Given the description of an element on the screen output the (x, y) to click on. 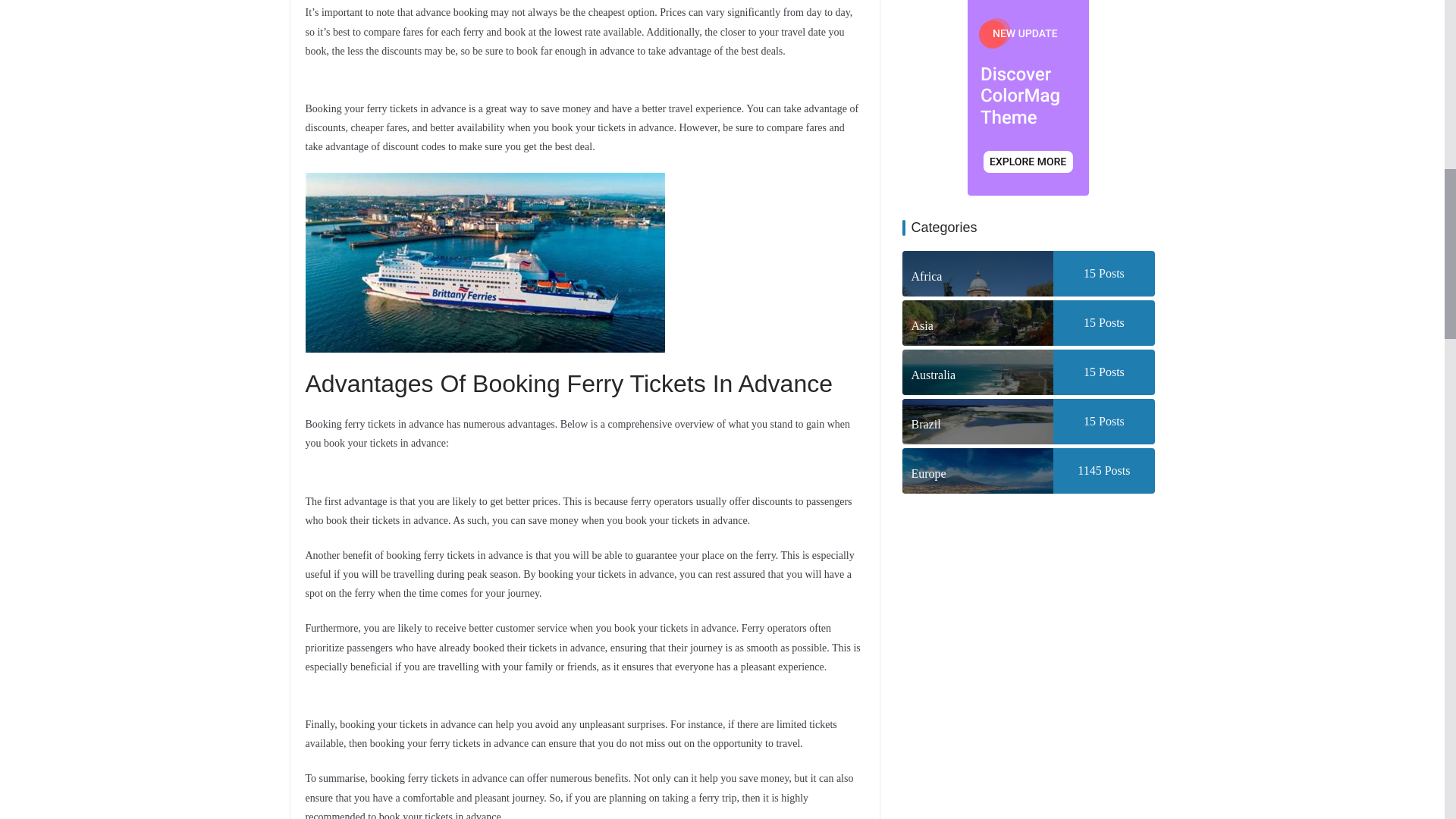
Is It Cheaper To Book Ferry In Advance? (483, 262)
